Given the description of an element on the screen output the (x, y) to click on. 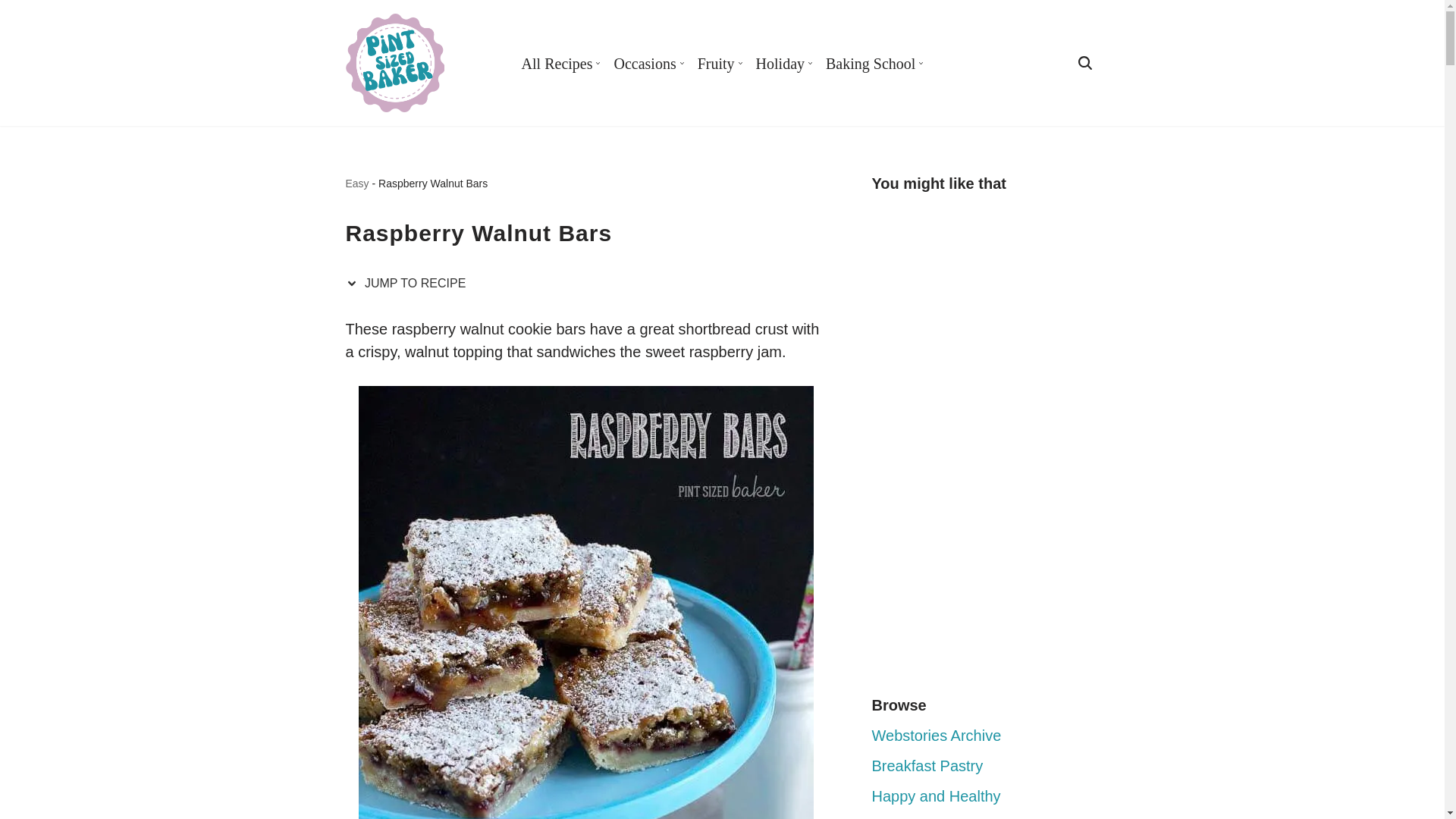
Occasions (643, 62)
All Recipes (556, 62)
Fruity (716, 62)
Skip to content (11, 31)
